Given the description of an element on the screen output the (x, y) to click on. 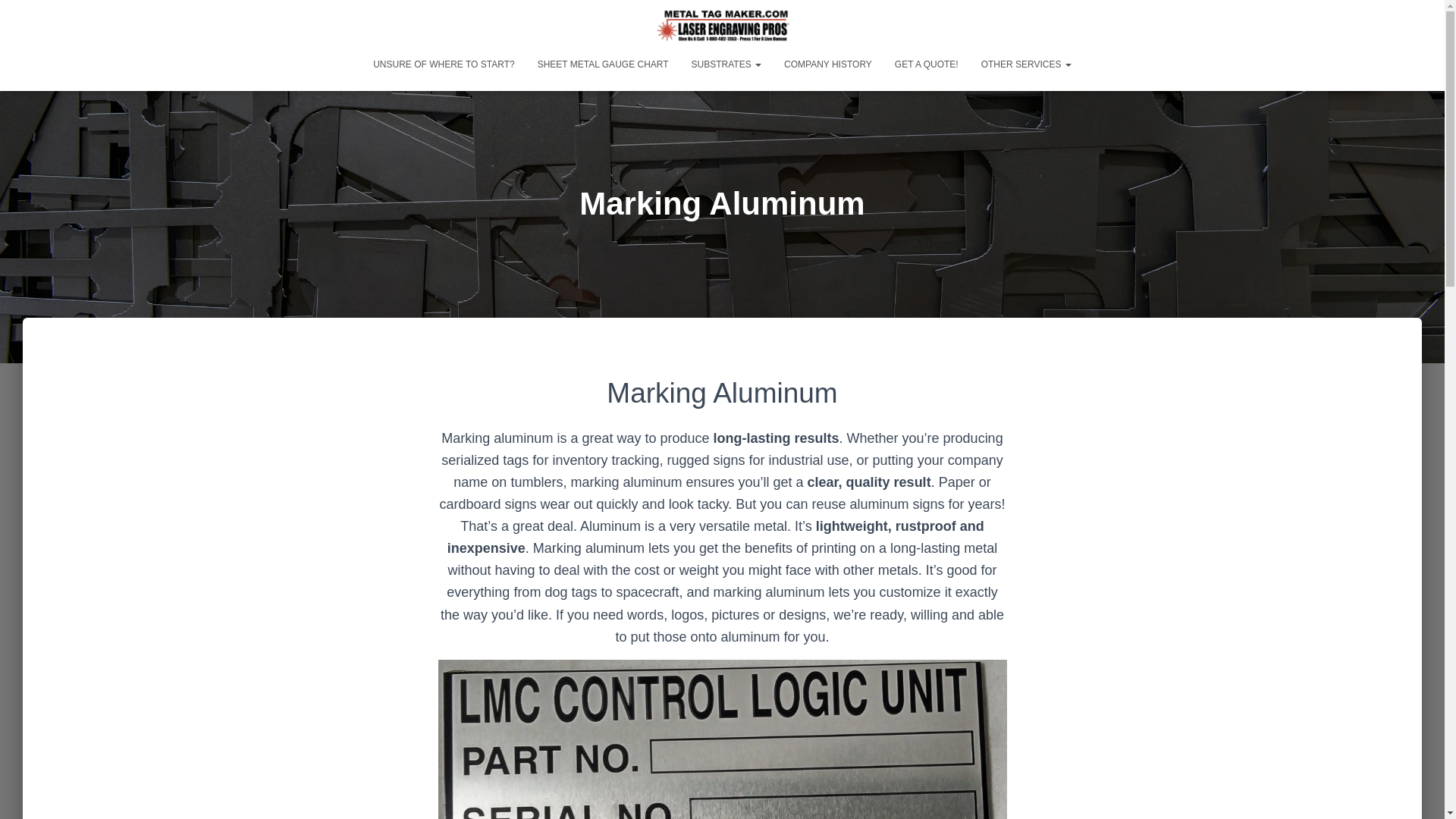
Other Services (1026, 64)
SHEET METAL GAUGE CHART (602, 64)
Substrates (726, 64)
Unsure of Where to Start? (443, 64)
Company History (828, 64)
SUBSTRATES (726, 64)
GET A QUOTE! (926, 64)
COMPANY HISTORY (828, 64)
Get A Quote! (926, 64)
MetalTagMaker.com (722, 26)
OTHER SERVICES (1026, 64)
Sheet Metal Gauge Chart (602, 64)
UNSURE OF WHERE TO START? (443, 64)
